Given the description of an element on the screen output the (x, y) to click on. 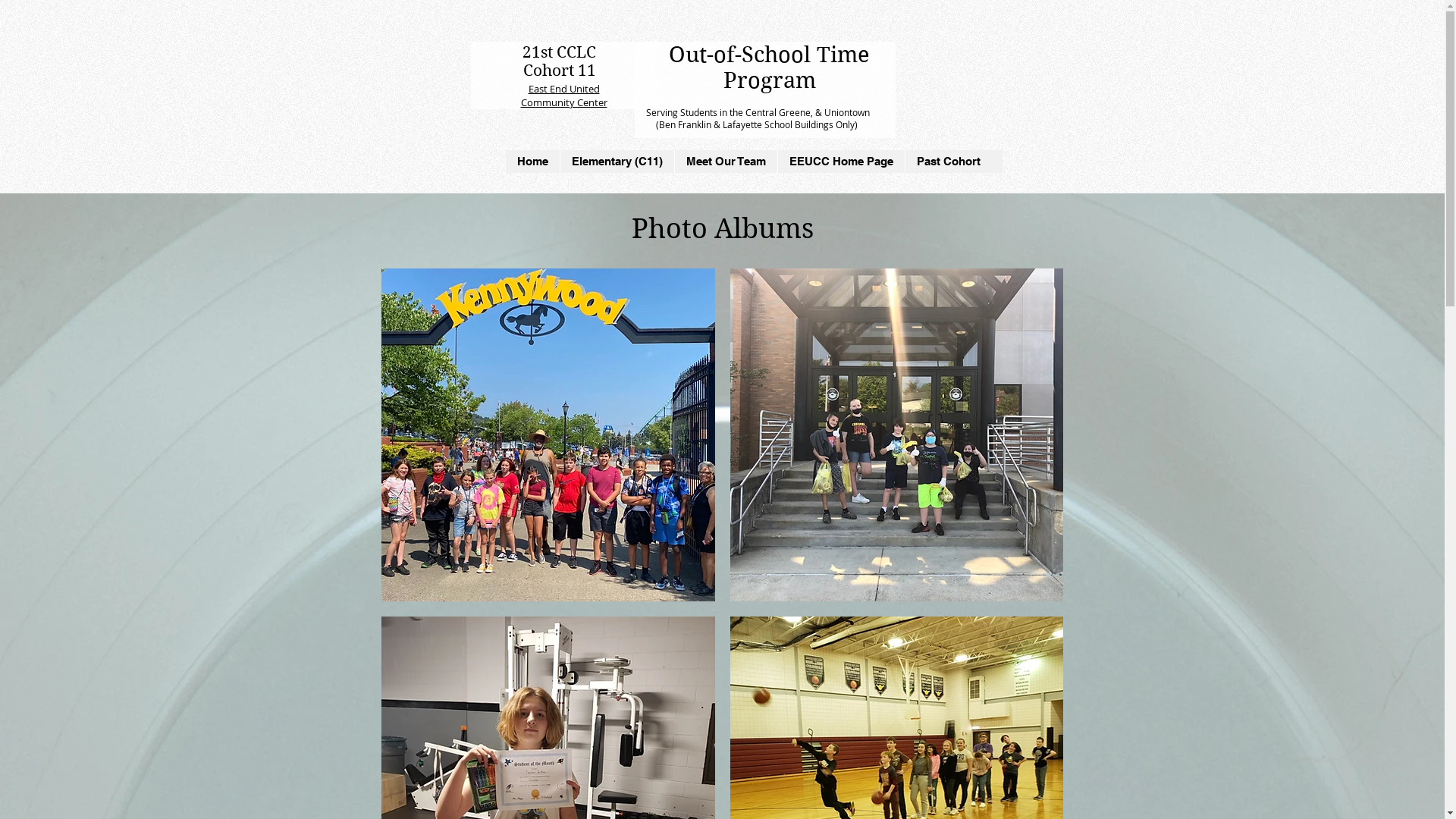
Elementary (C11) Element type: text (616, 161)
Meet Our Team Element type: text (724, 161)
Home Element type: text (531, 161)
EEUCC Home Page Element type: text (839, 161)
East End United Community Center Element type: text (563, 95)
Past Cohort Element type: text (947, 161)
